Given the description of an element on the screen output the (x, y) to click on. 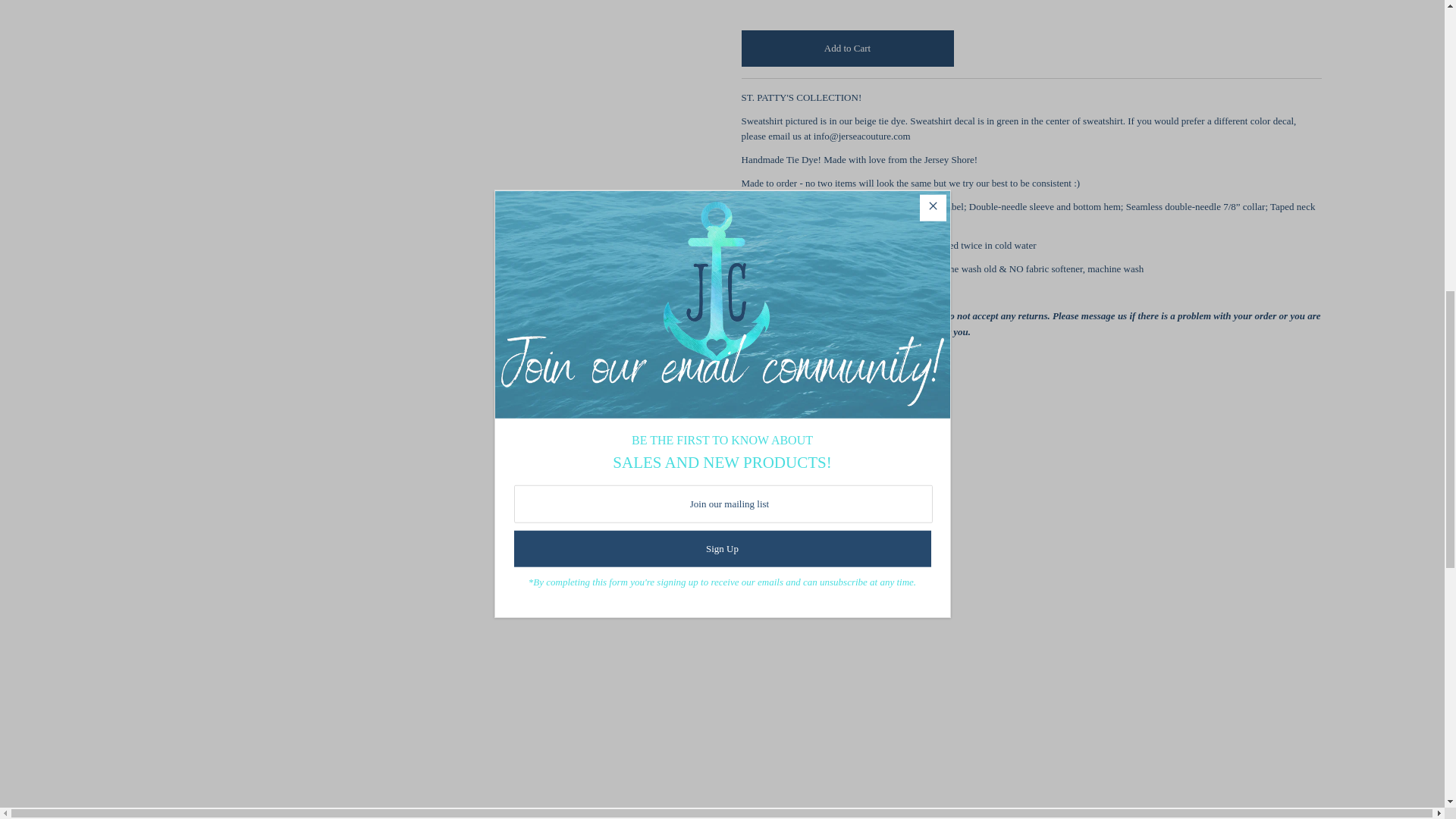
Feeling Lucky Crewneck (262, 670)
Guiness Crewneck (1181, 670)
Feeling Lucky Crewneck (569, 670)
Add to Cart (847, 48)
Cheers Crewneck (875, 670)
